Given the description of an element on the screen output the (x, y) to click on. 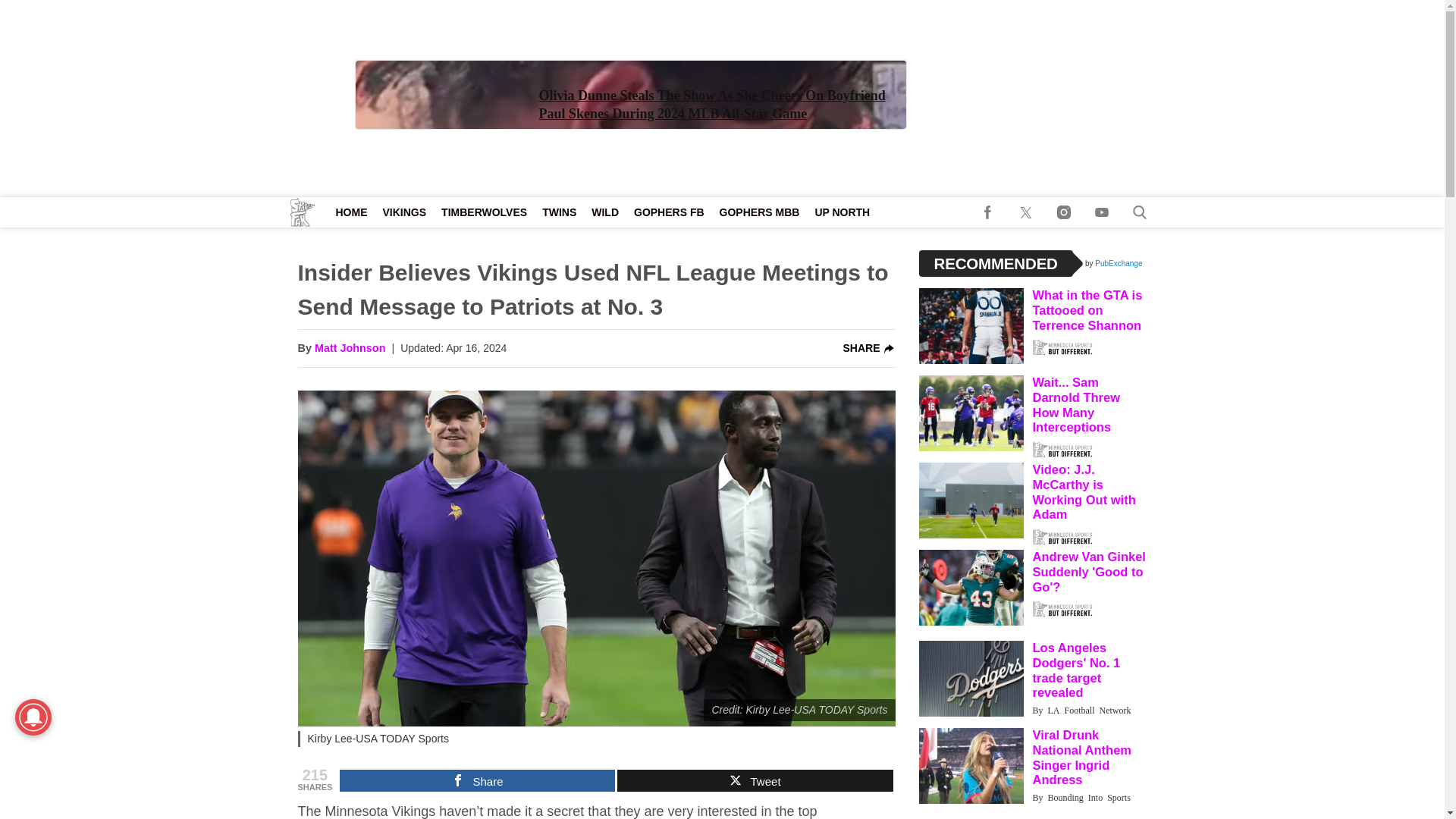
Share (476, 780)
Follow us on Twitter (1026, 212)
Subscribe to our YouTube channel (1102, 212)
Follow us on Instagram (1064, 212)
GOPHERS MBB (759, 212)
WILD (604, 212)
VIKINGS (403, 212)
Matt Johnson (349, 348)
TWINS (558, 212)
HOME (350, 212)
GOPHERS FB (668, 212)
UP NORTH (841, 212)
Tweet (754, 780)
Follow us on Facebook (988, 212)
TIMBERWOLVES (483, 212)
